Given the description of an element on the screen output the (x, y) to click on. 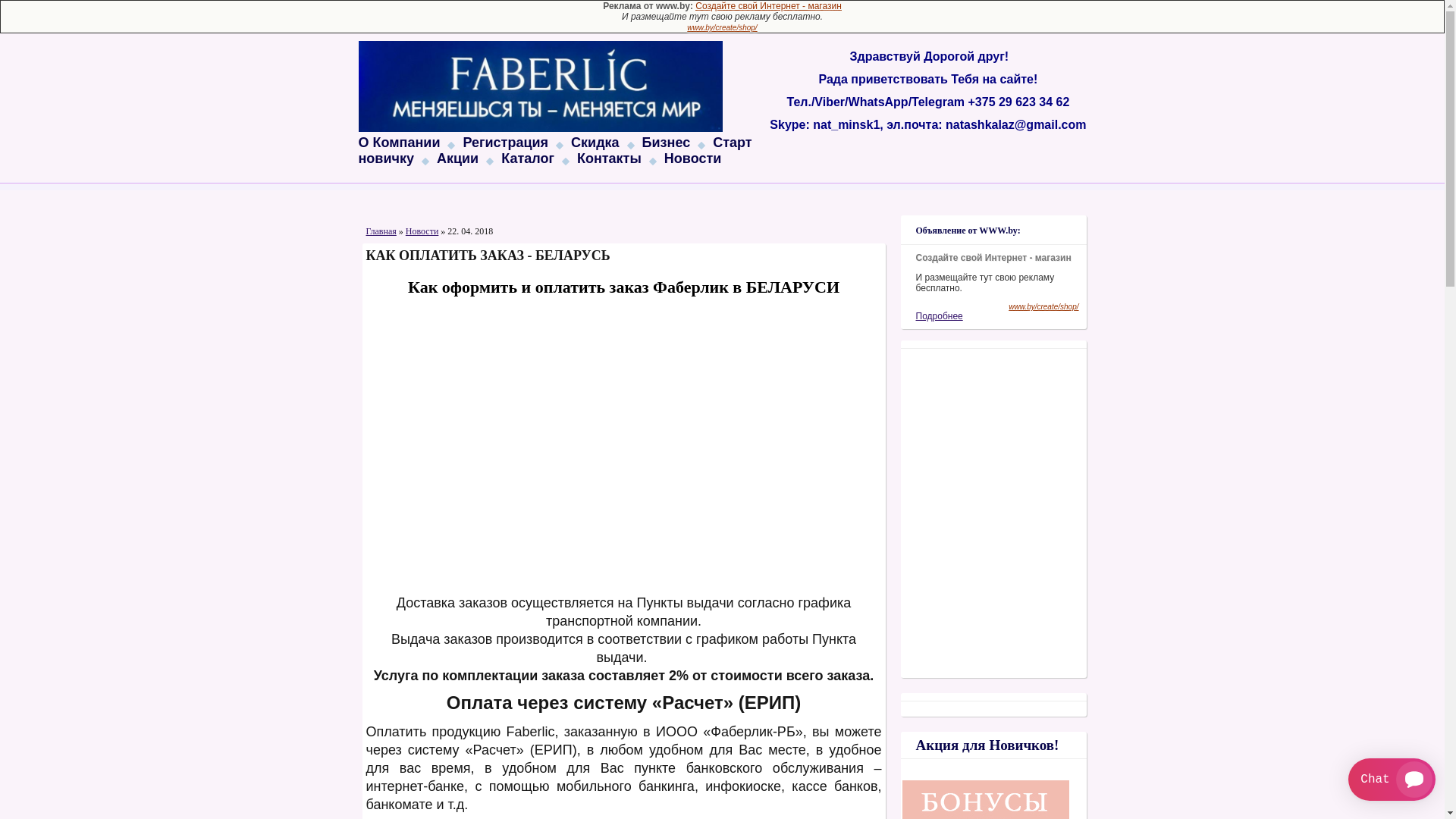
www.by/create/shop/ Element type: text (721, 27)
www.by/create/shop/ Element type: text (1043, 306)
Smartsupp widget button Element type: hover (1391, 779)
